Given the description of an element on the screen output the (x, y) to click on. 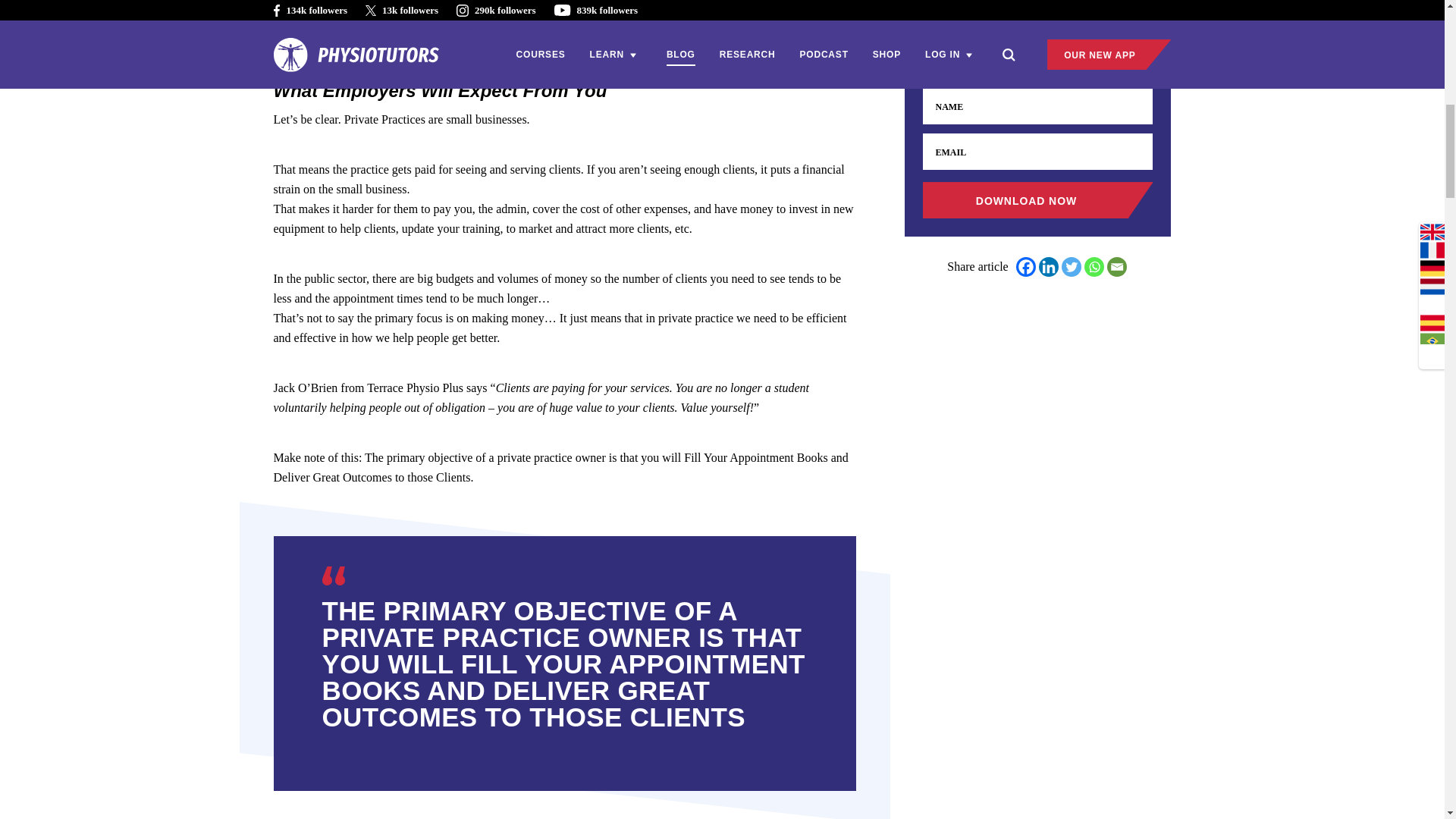
Whatsapp (1093, 266)
Clinic Mastery (482, 2)
Email (1116, 266)
Linkedin (1048, 266)
Twitter (1071, 266)
Facebook (1025, 266)
DOWNLOAD NOW (1037, 199)
